Given the description of an element on the screen output the (x, y) to click on. 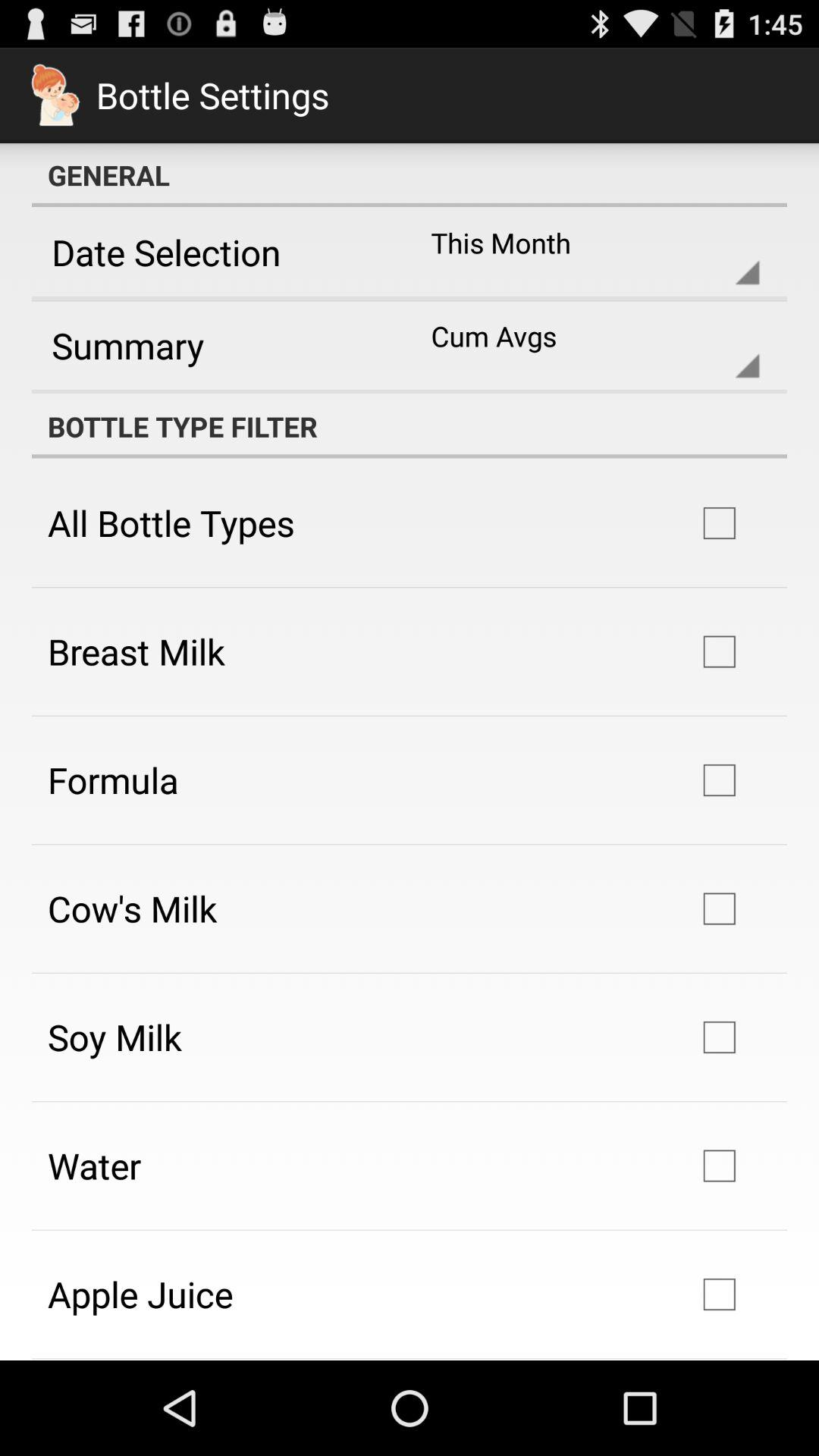
open the icon above formula (136, 651)
